Given the description of an element on the screen output the (x, y) to click on. 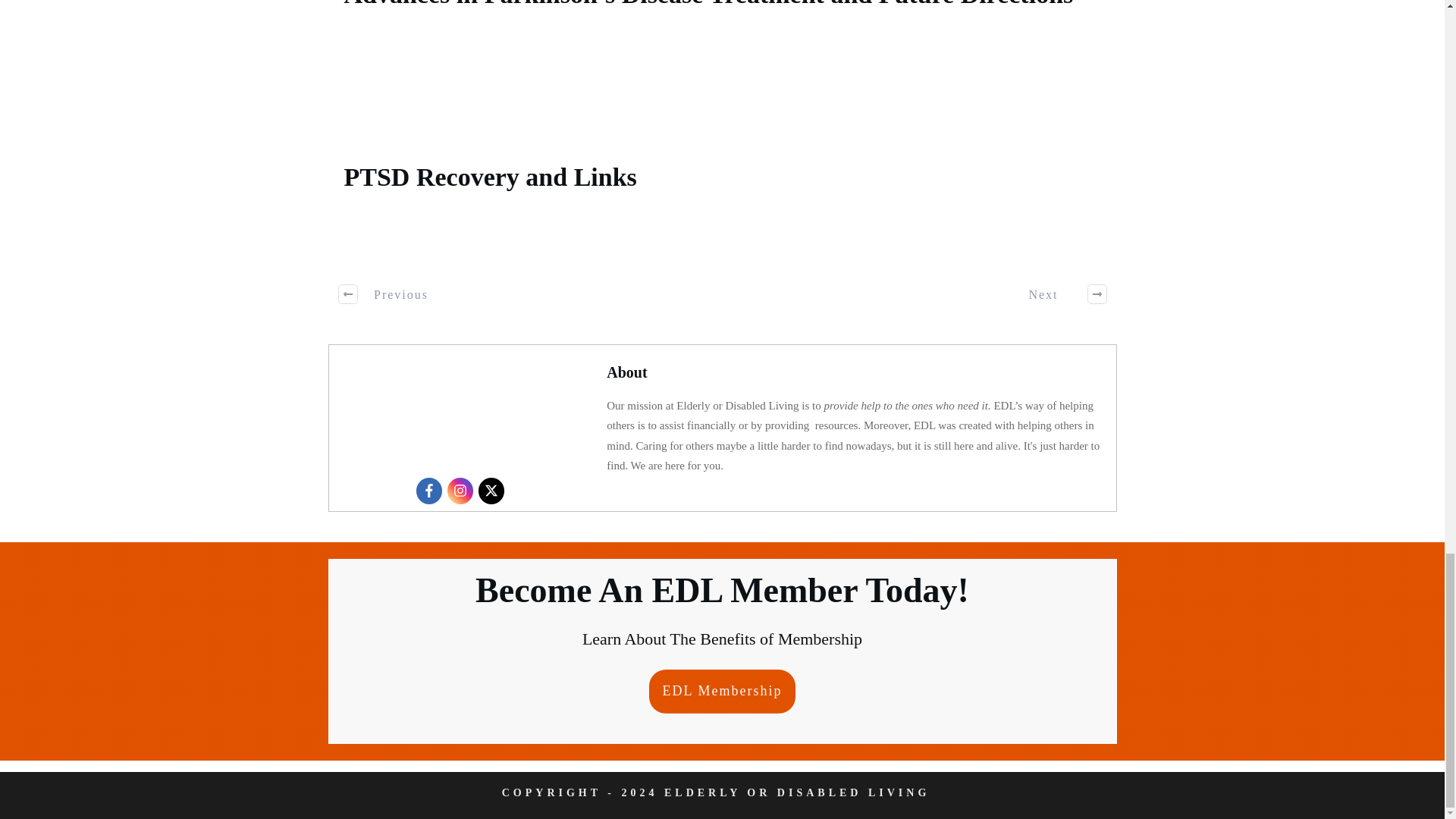
PTSD Recovery and Links (490, 176)
PTSD Recovery and Links (490, 176)
Previous (385, 293)
Next (1059, 293)
EDL Membership (722, 691)
